Given the description of an element on the screen output the (x, y) to click on. 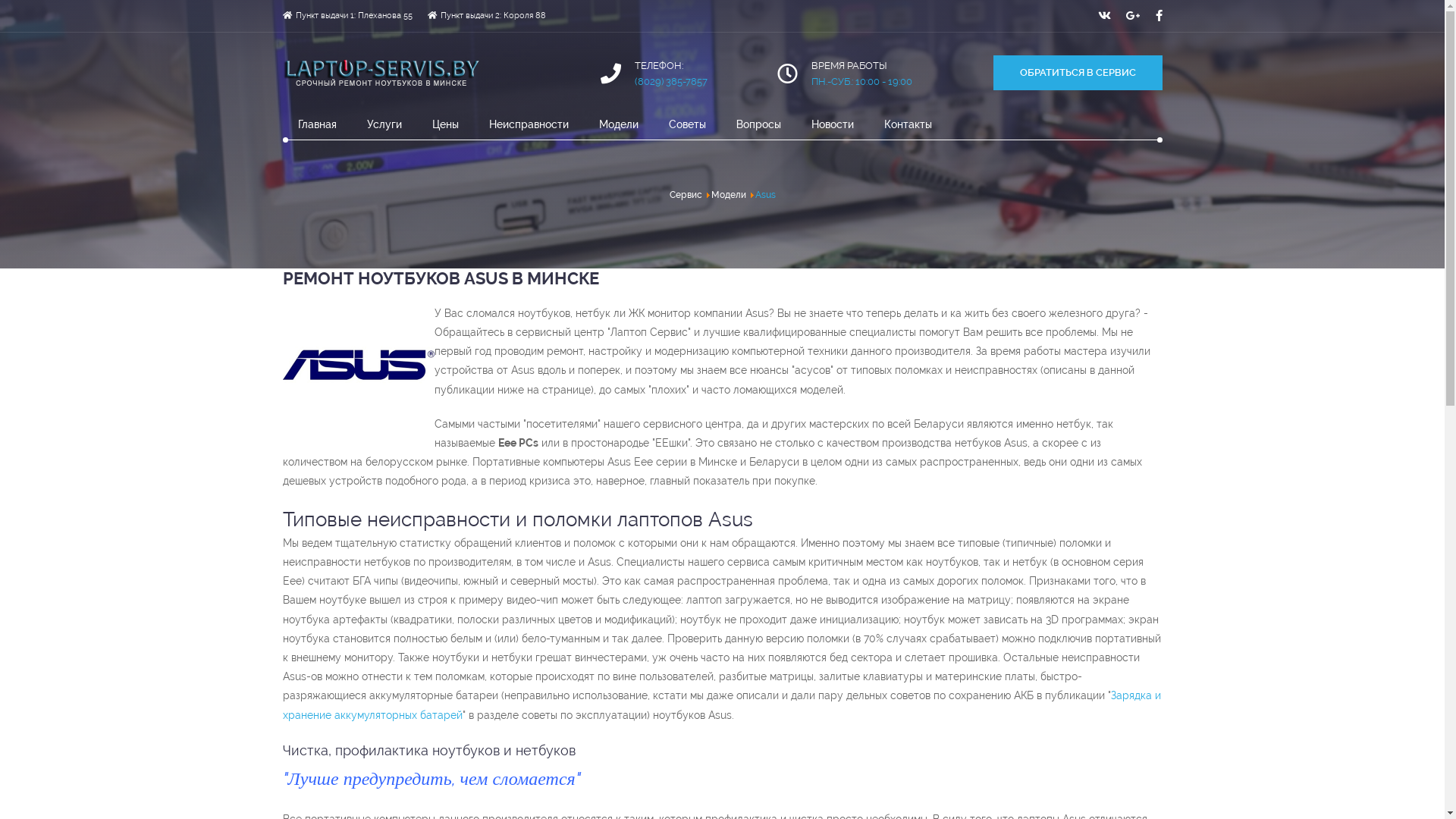
(8029) 385-7857 Element type: text (670, 81)
